Given the description of an element on the screen output the (x, y) to click on. 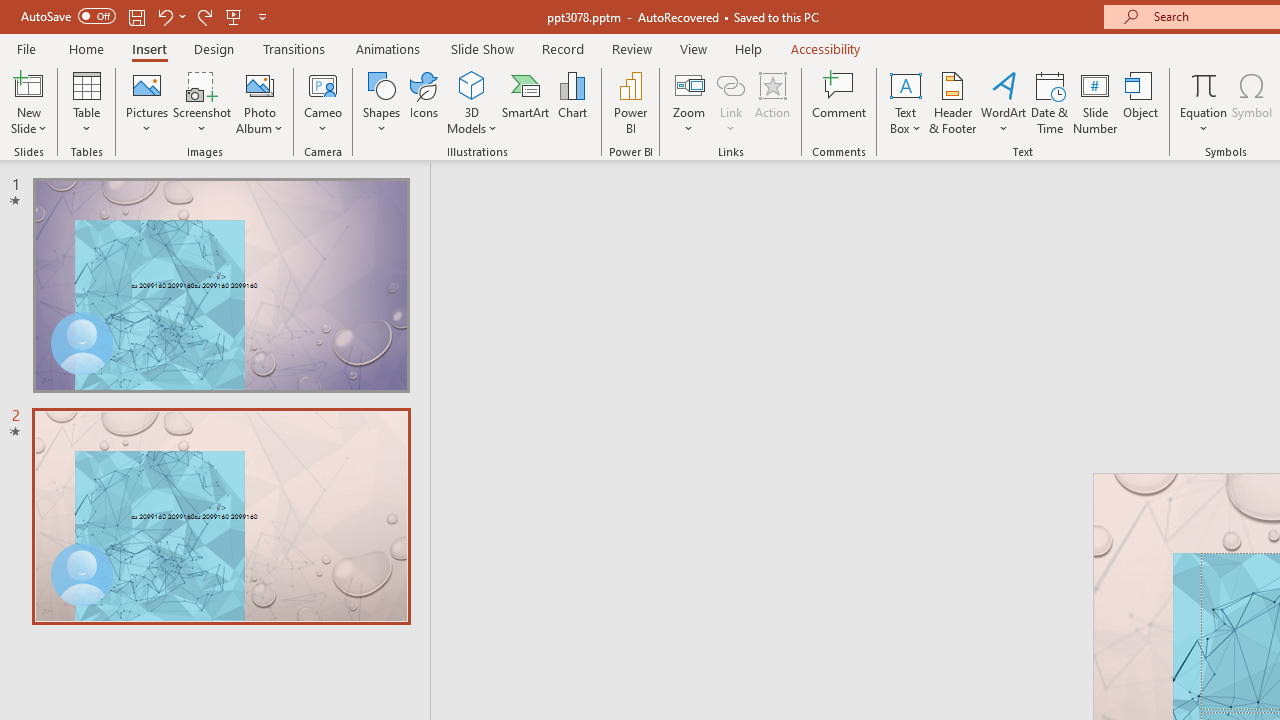
Power BI (630, 102)
Symbol... (1252, 102)
Screenshot (202, 102)
Object... (1141, 102)
New Photo Album... (259, 84)
